Given the description of an element on the screen output the (x, y) to click on. 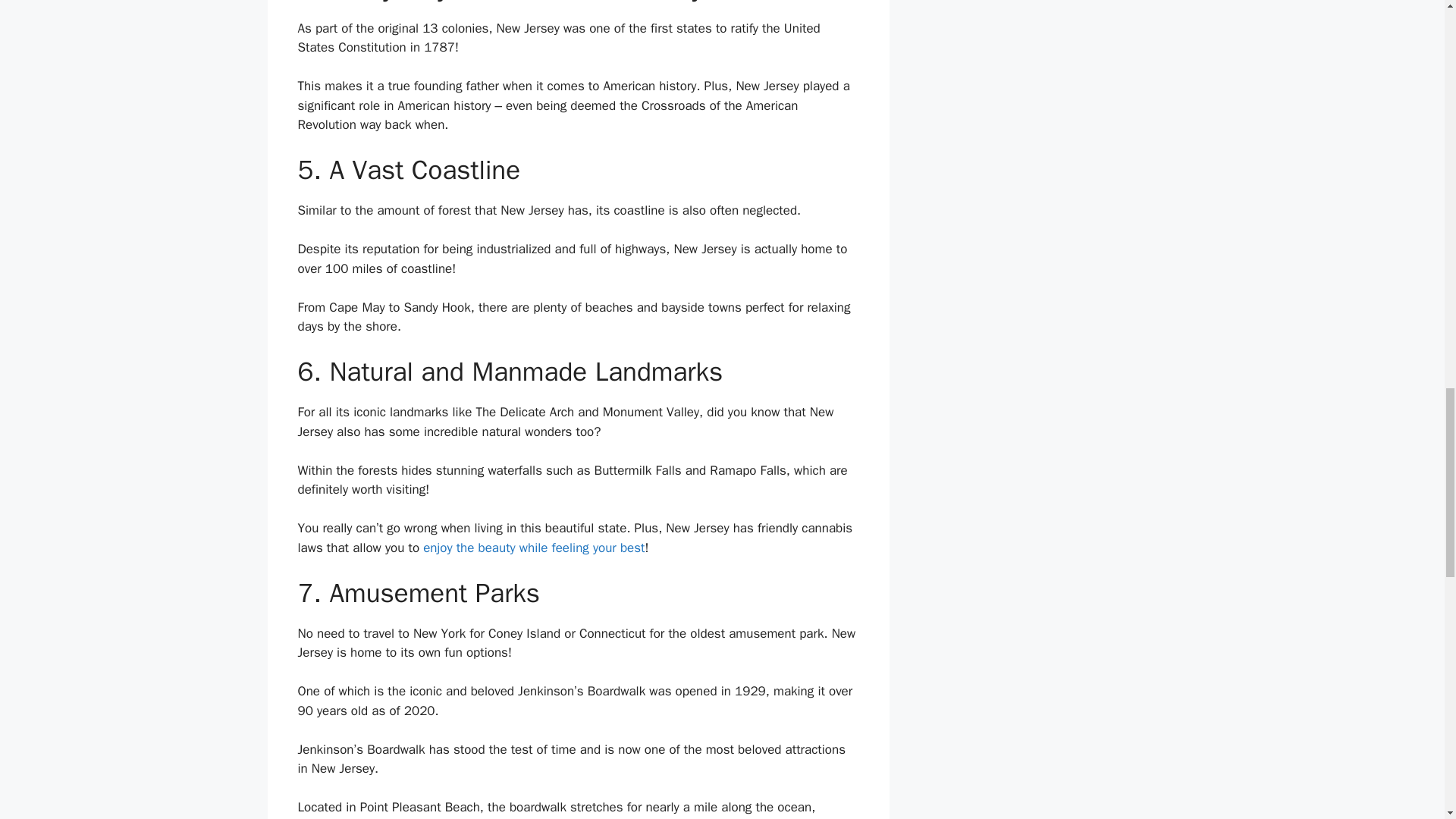
enjoy the beauty while feeling your best (534, 547)
